Given the description of an element on the screen output the (x, y) to click on. 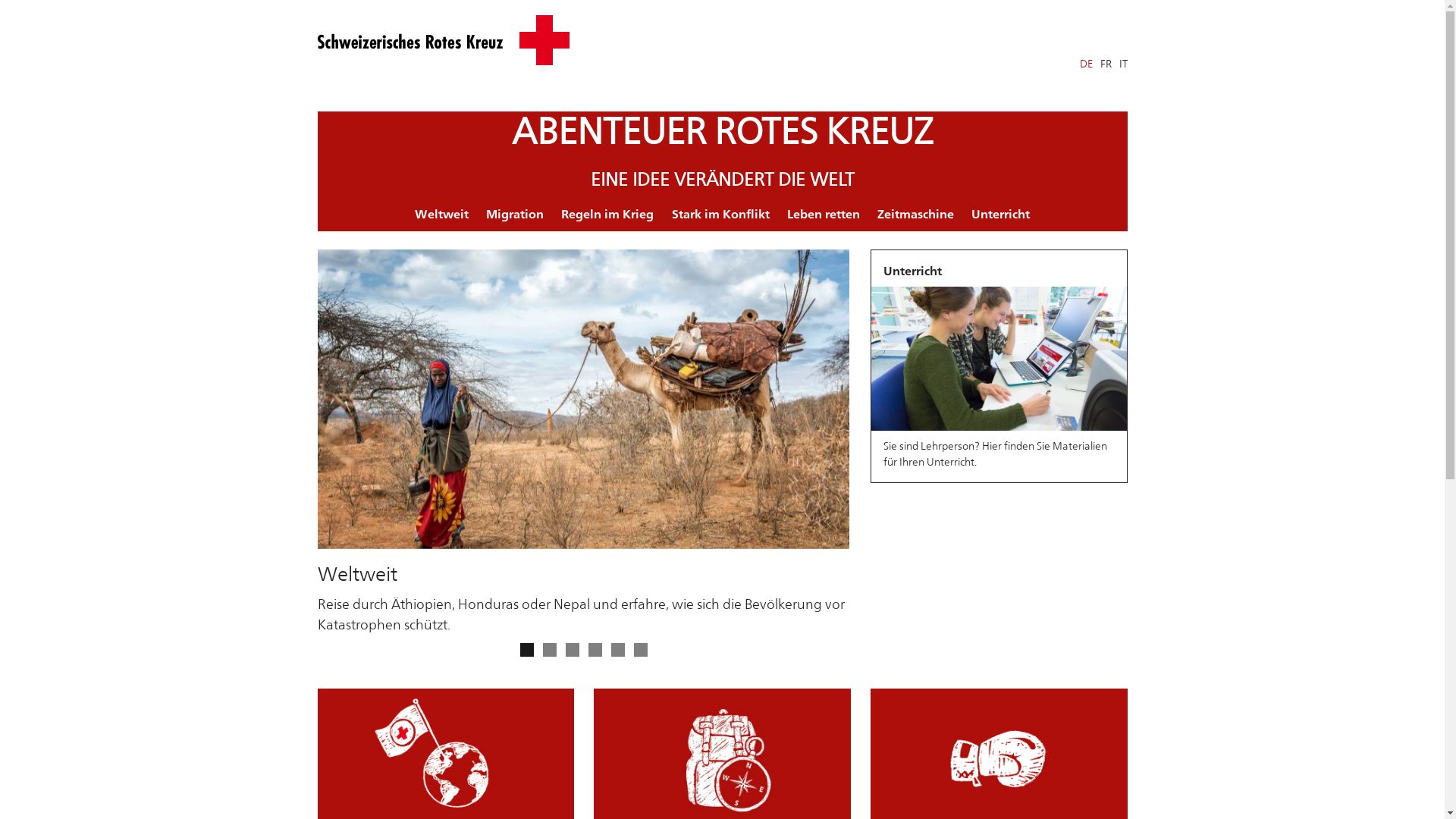
Migration Element type: text (514, 214)
4 Element type: text (595, 649)
Zeitmaschine Element type: text (915, 214)
2 Element type: text (549, 649)
Weltweit Element type: text (440, 214)
1 Element type: text (526, 649)
Direkt zum Inhalt Element type: text (46, 0)
Leben retten Element type: text (823, 214)
5 Element type: text (617, 649)
DE Element type: text (1085, 63)
Stark im Konflikt Element type: text (720, 214)
6 Element type: text (640, 649)
Regeln im Krieg Element type: text (607, 214)
Abenteuer Rotes Kreuz Element type: hover (442, 40)
FR Element type: text (1104, 63)
Unterricht Element type: text (1000, 214)
IT Element type: text (1123, 63)
3 Element type: text (572, 649)
